Given the description of an element on the screen output the (x, y) to click on. 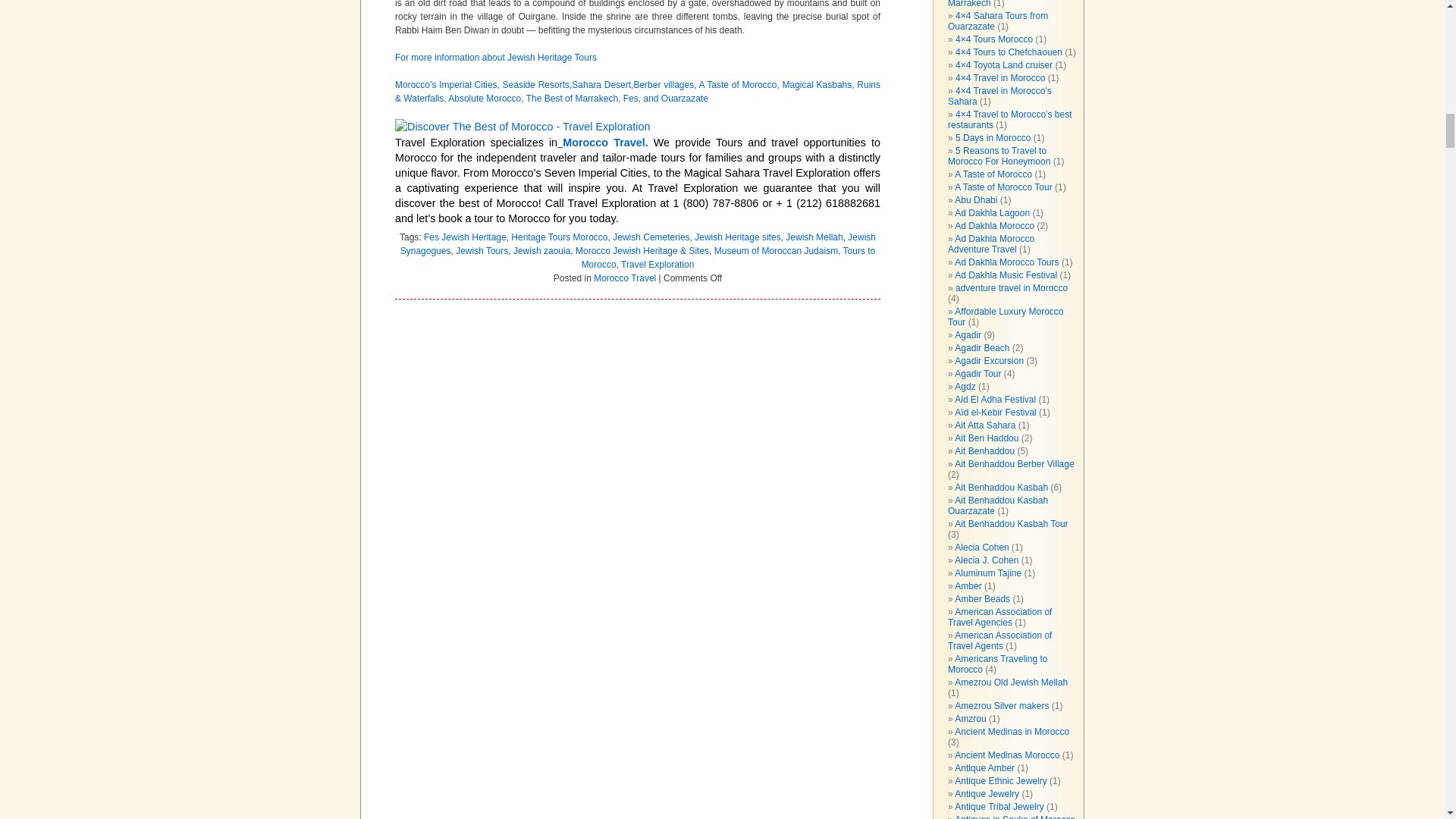
travel-exploration-signature-logo-link13 (521, 126)
For more information about Jewish Heritage Tours (495, 57)
 Morocco Travel.  (605, 142)
